Given the description of an element on the screen output the (x, y) to click on. 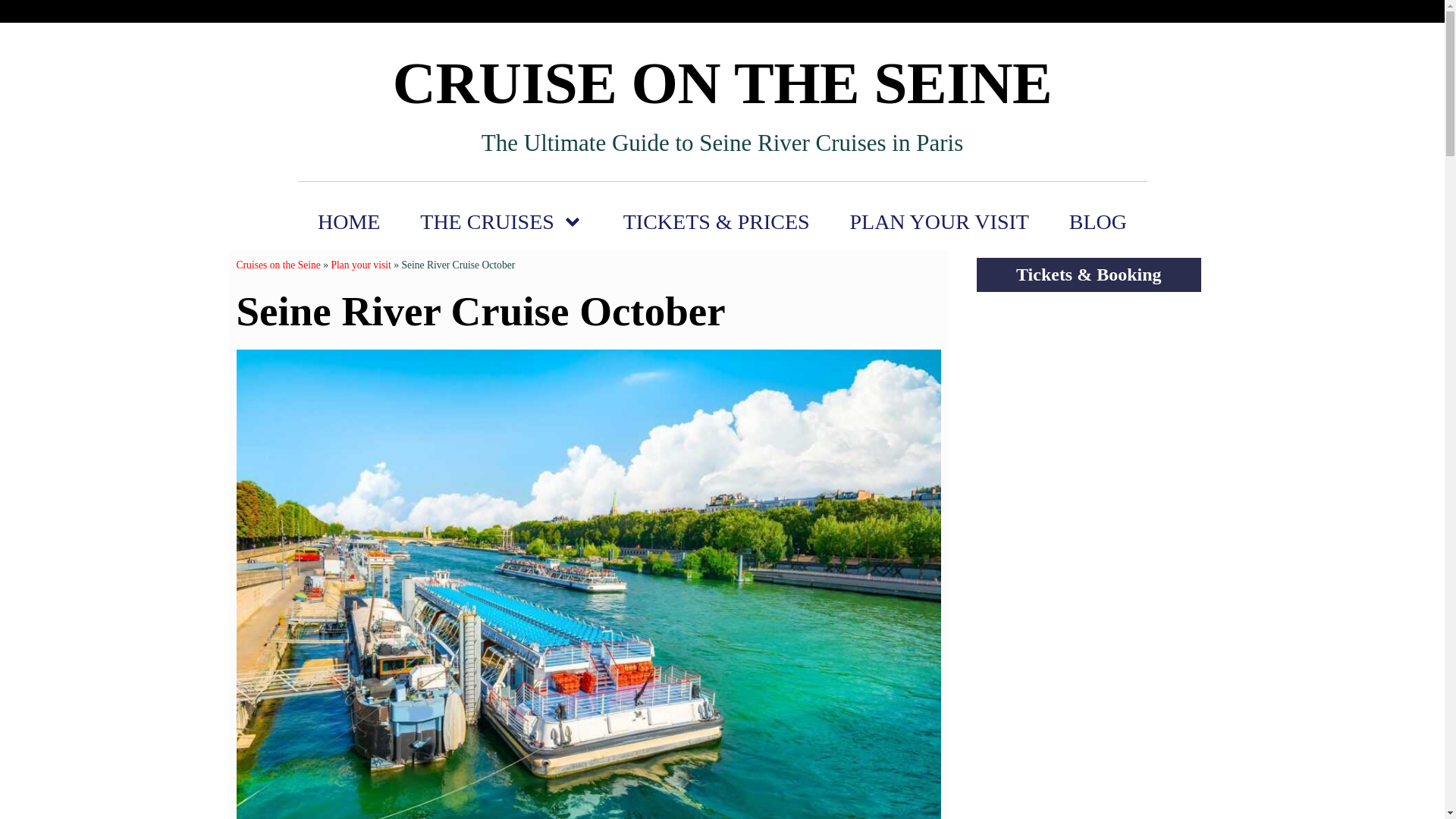
HOME (347, 221)
THE CRUISES (501, 221)
CRUISE ON THE SEINE (722, 82)
PLAN YOUR VISIT (938, 221)
